Given the description of an element on the screen output the (x, y) to click on. 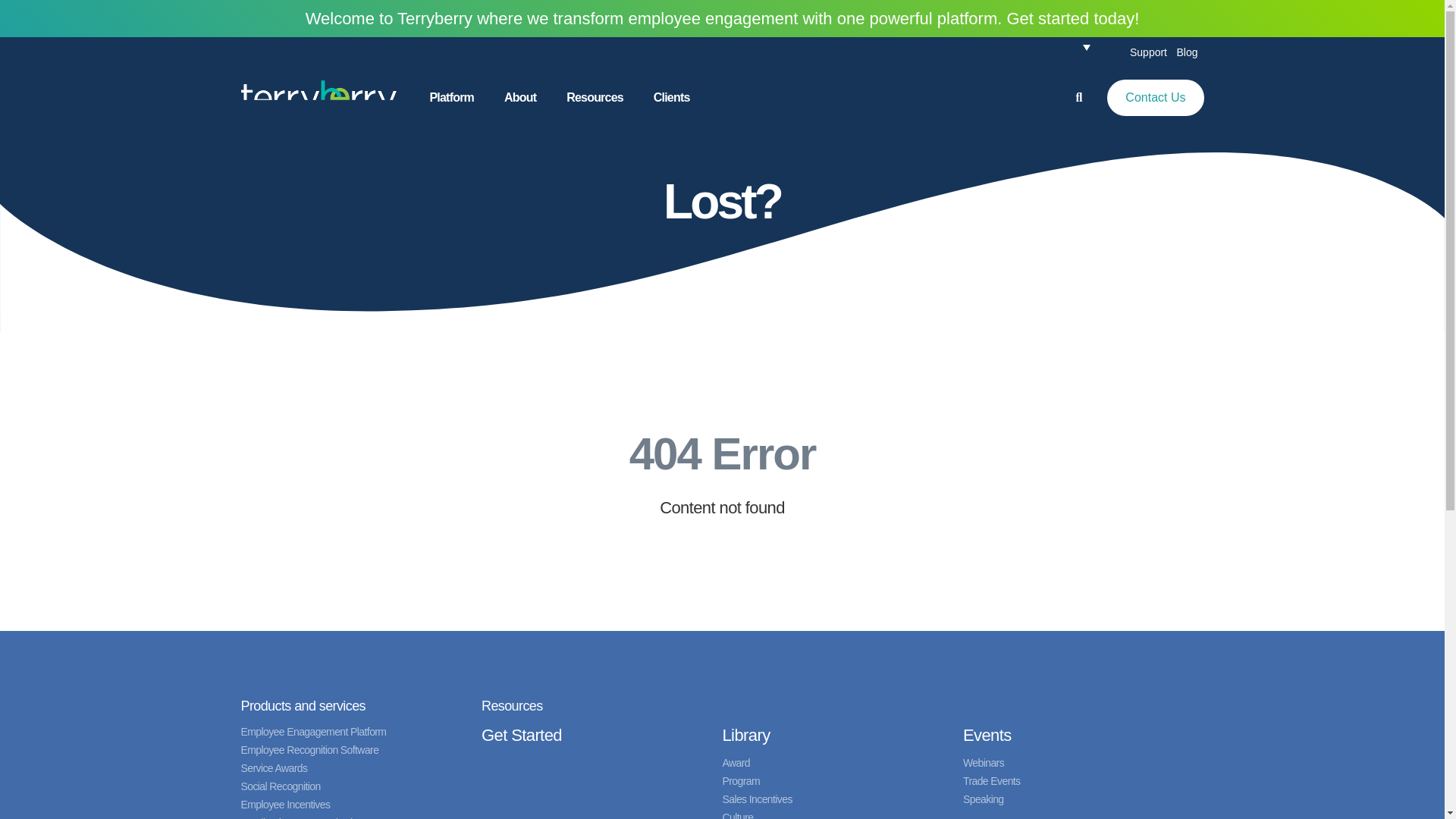
Terryberry (318, 97)
